Given the description of an element on the screen output the (x, y) to click on. 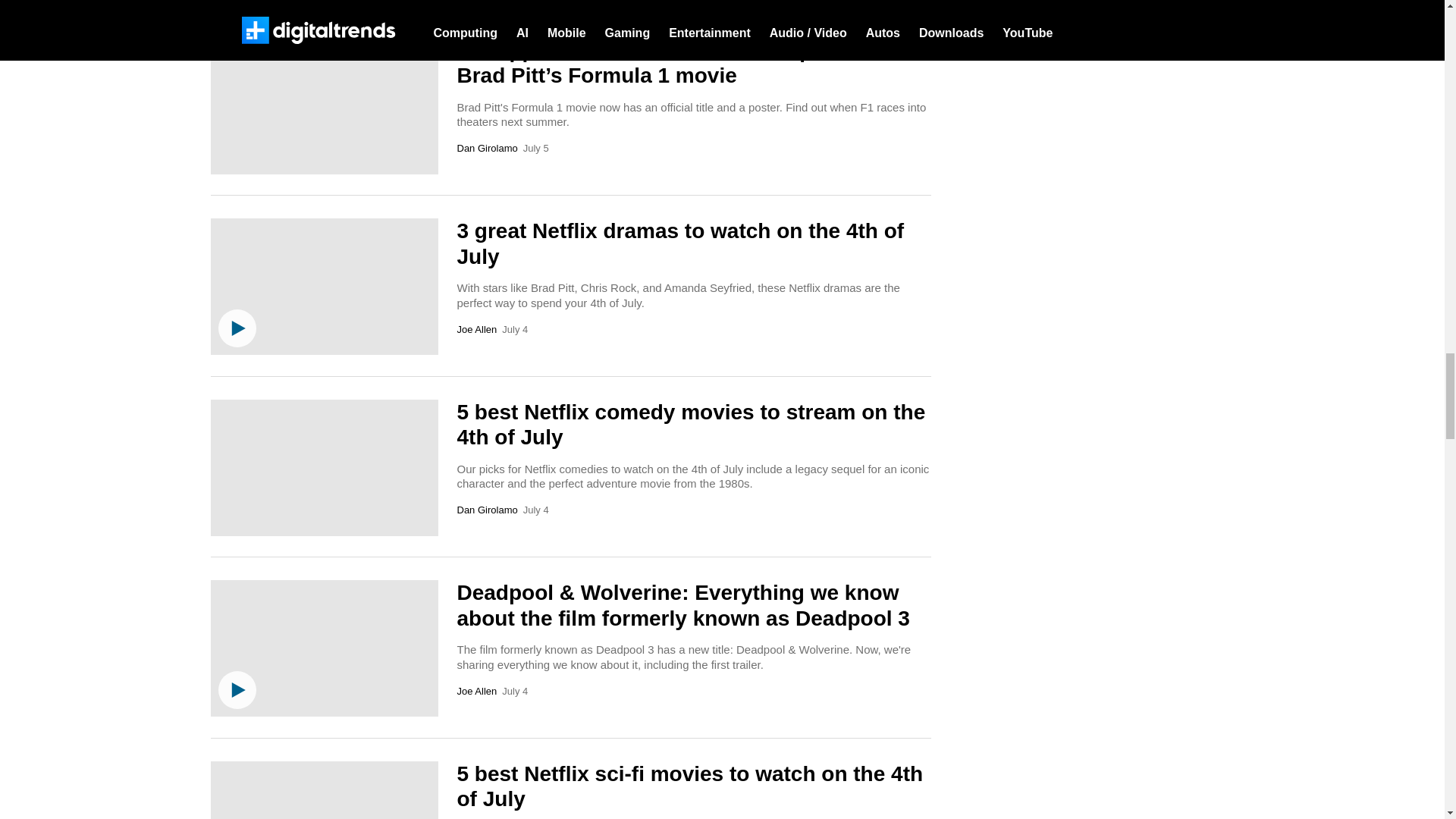
7.5.24 7:51am (535, 148)
7.4.24 12:00pm (514, 329)
